Given the description of an element on the screen output the (x, y) to click on. 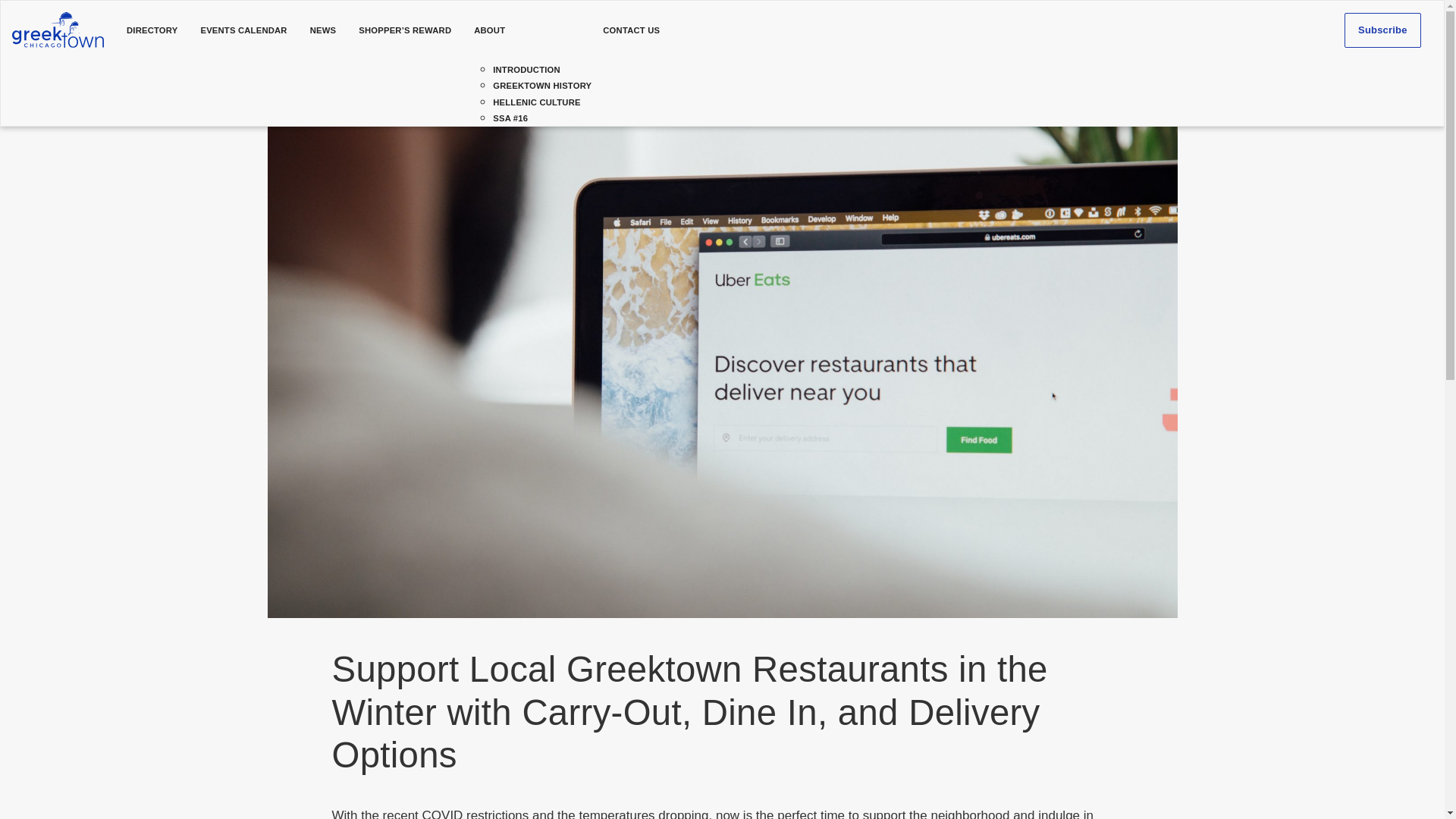
DIRECTORY (152, 30)
EVENTS CALENDAR (243, 30)
HELLENIC CULTURE (536, 102)
NEWS (322, 30)
INTRODUCTION (526, 69)
Subscribe (1382, 30)
CONTACT US (631, 30)
GREEKTOWN HISTORY (542, 85)
ABOUT (527, 30)
